Given the description of an element on the screen output the (x, y) to click on. 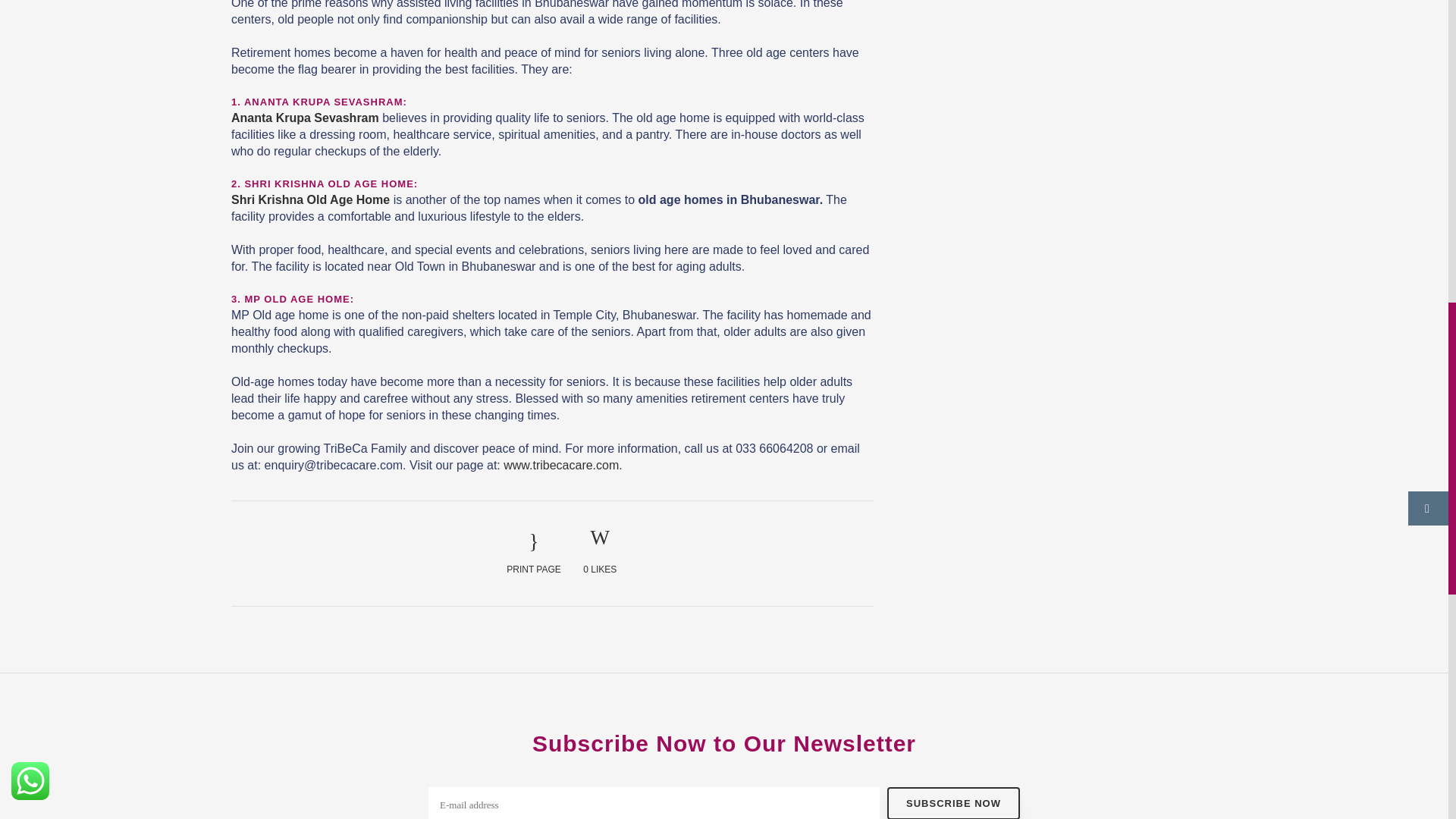
Subscribe now (953, 803)
